Given the description of an element on the screen output the (x, y) to click on. 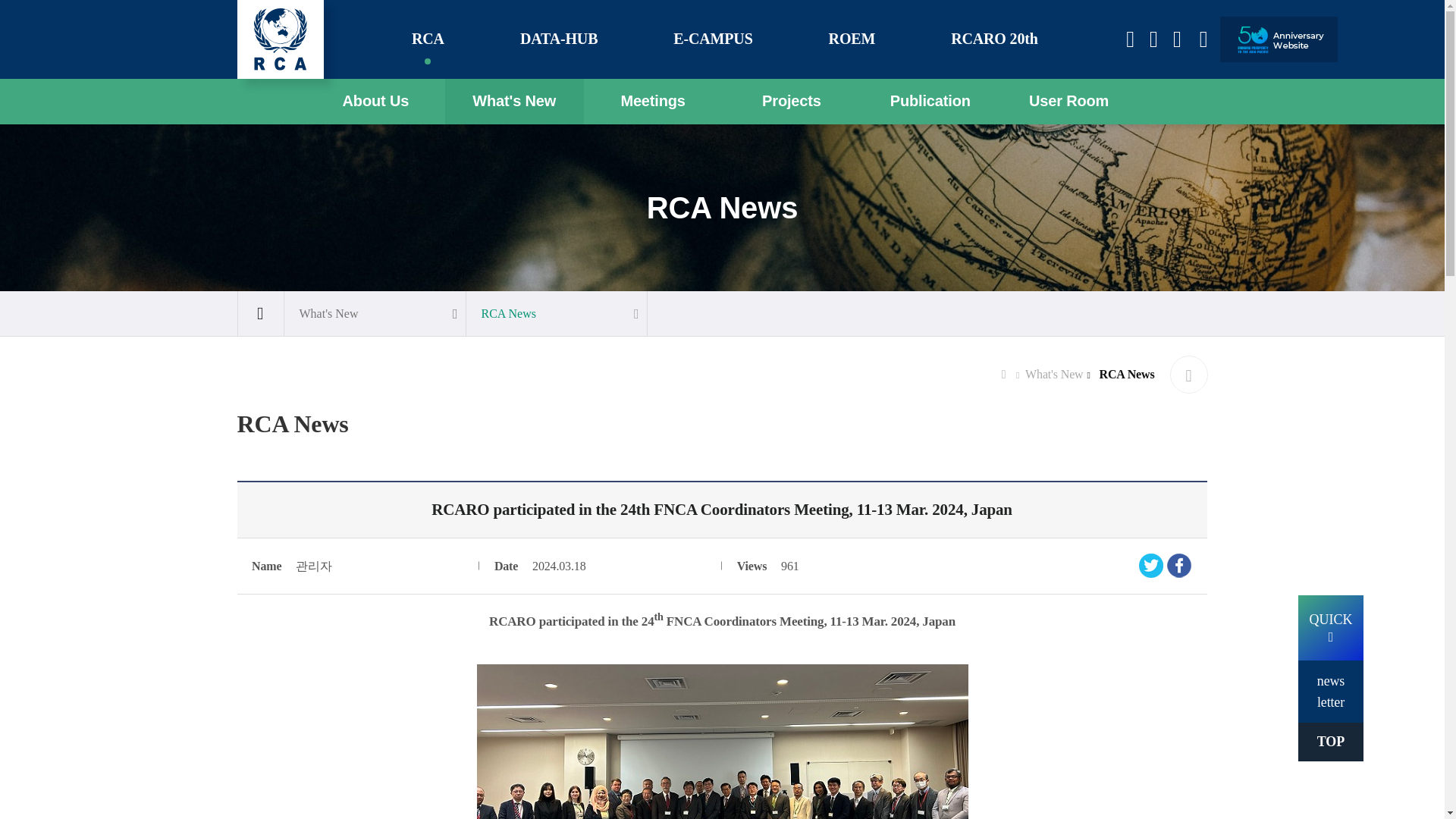
Meetings (652, 101)
Projects (791, 101)
What's New (514, 101)
User Room (1068, 101)
About Us (375, 101)
Publication (929, 101)
RCA (427, 39)
50TH ANNIVERSARY WEBSITE (1278, 39)
